Given the description of an element on the screen output the (x, y) to click on. 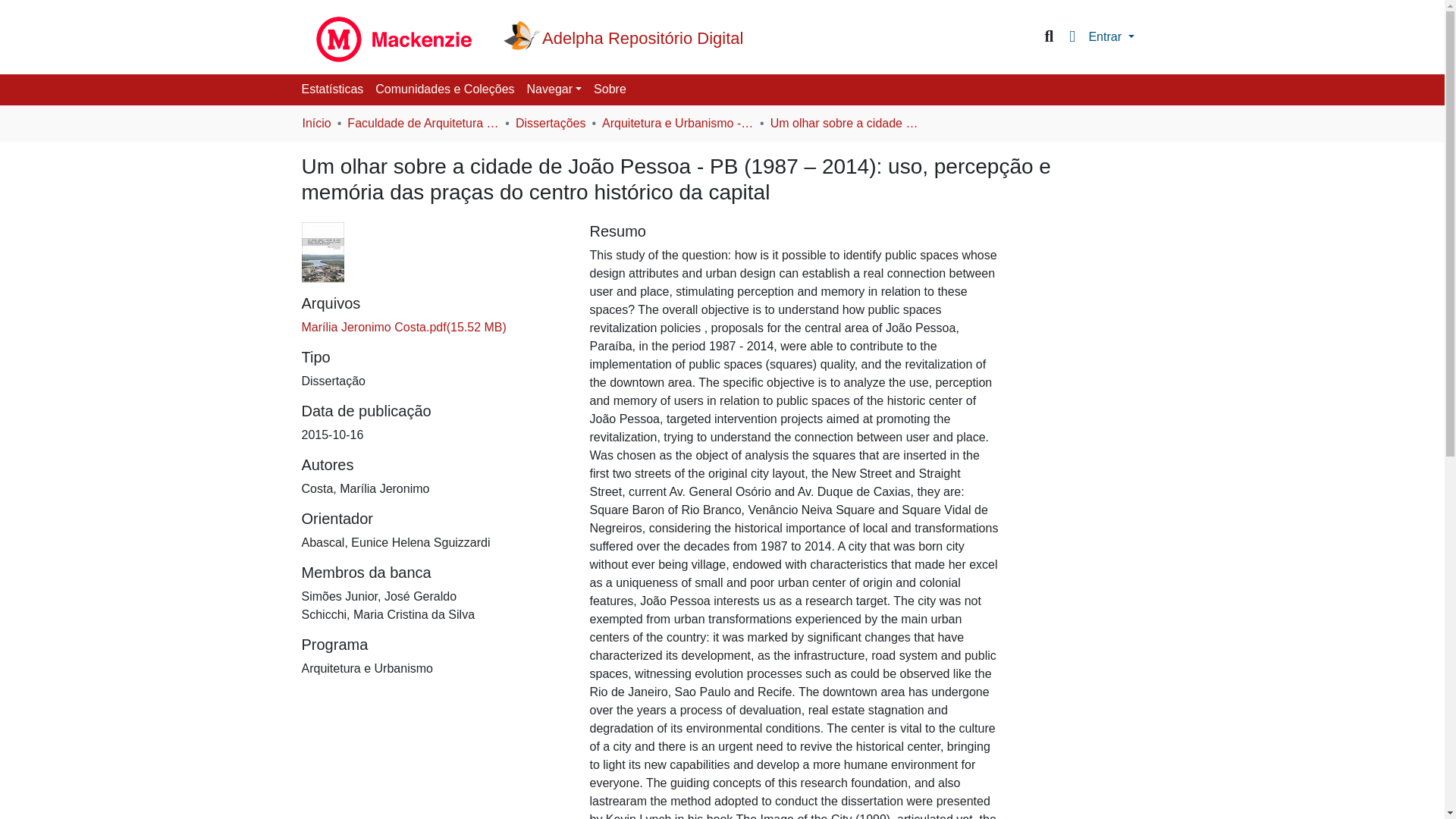
Buscar (1049, 36)
Entrar (1110, 36)
Sobre (609, 89)
Navegar (554, 89)
Sobre (609, 89)
Selecionar um idioma (1072, 36)
